Given the description of an element on the screen output the (x, y) to click on. 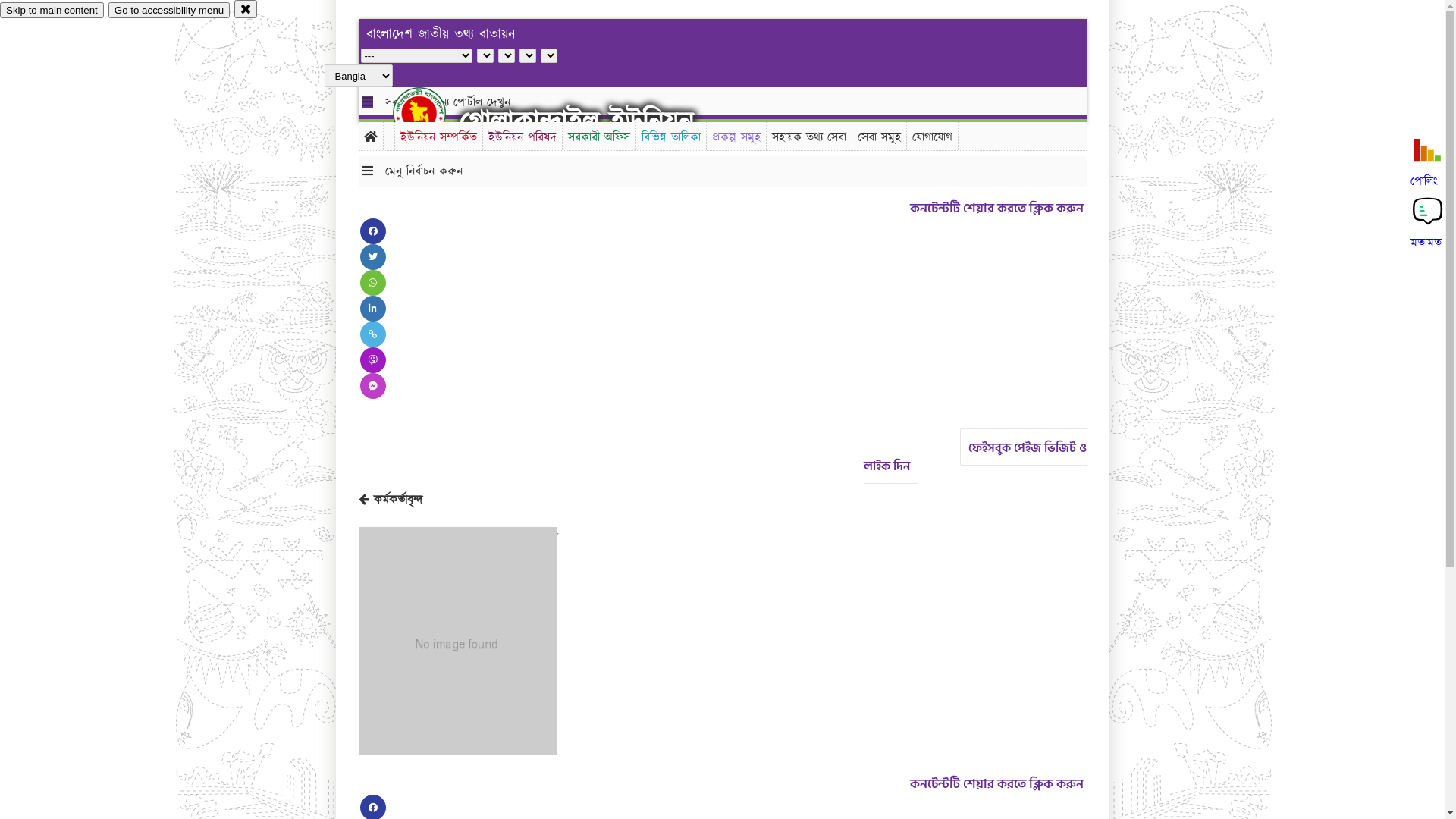
Go to accessibility menu Element type: text (168, 10)

                
             Element type: hover (431, 112)
Skip to main content Element type: text (51, 10)
close Element type: hover (245, 9)
